Given the description of an element on the screen output the (x, y) to click on. 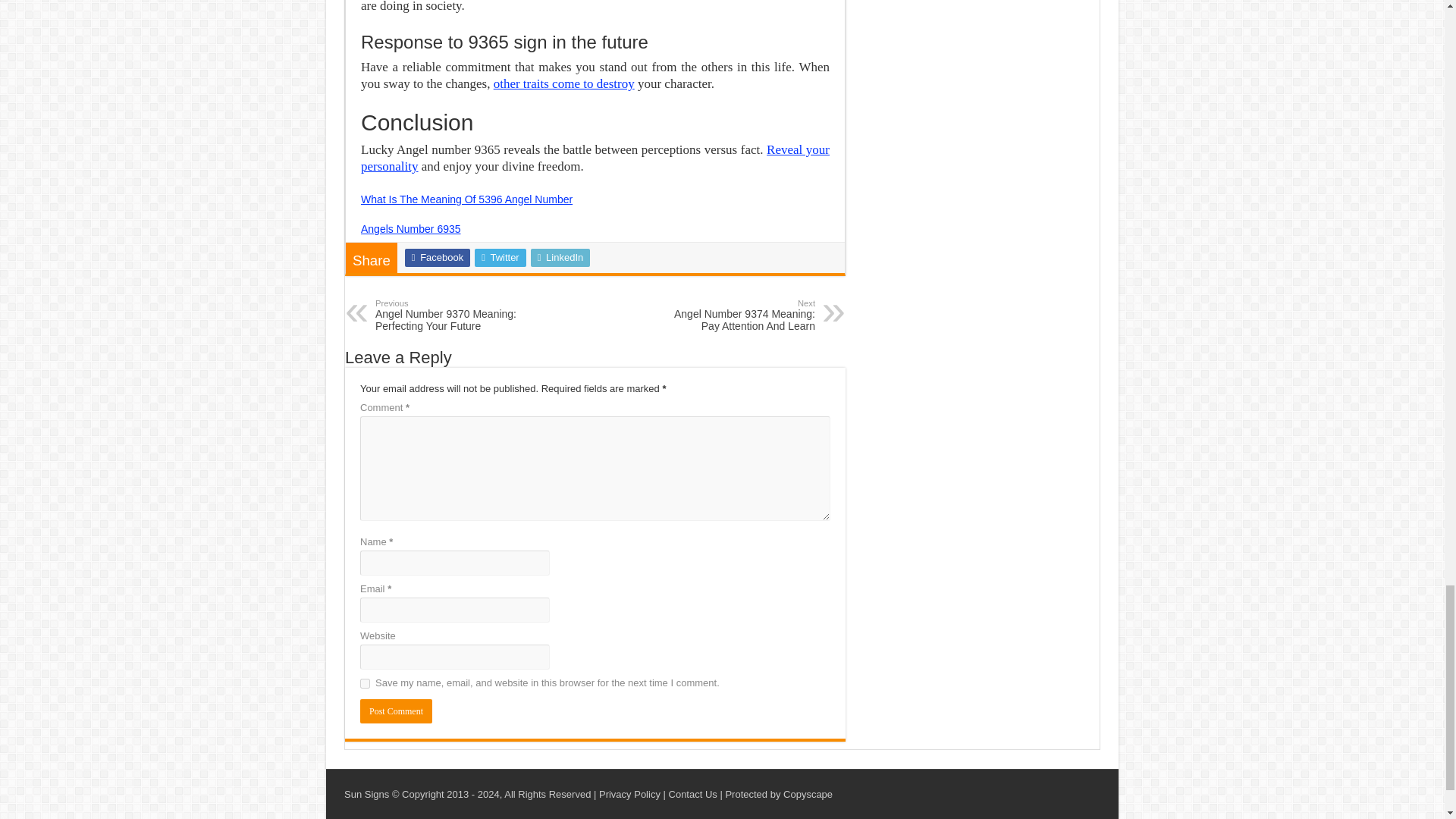
Angels Number 6935 (411, 228)
What Is The Meaning Of 5396 Angel Number (466, 199)
other traits come to destroy (563, 83)
yes (364, 683)
Post Comment (395, 711)
